Given the description of an element on the screen output the (x, y) to click on. 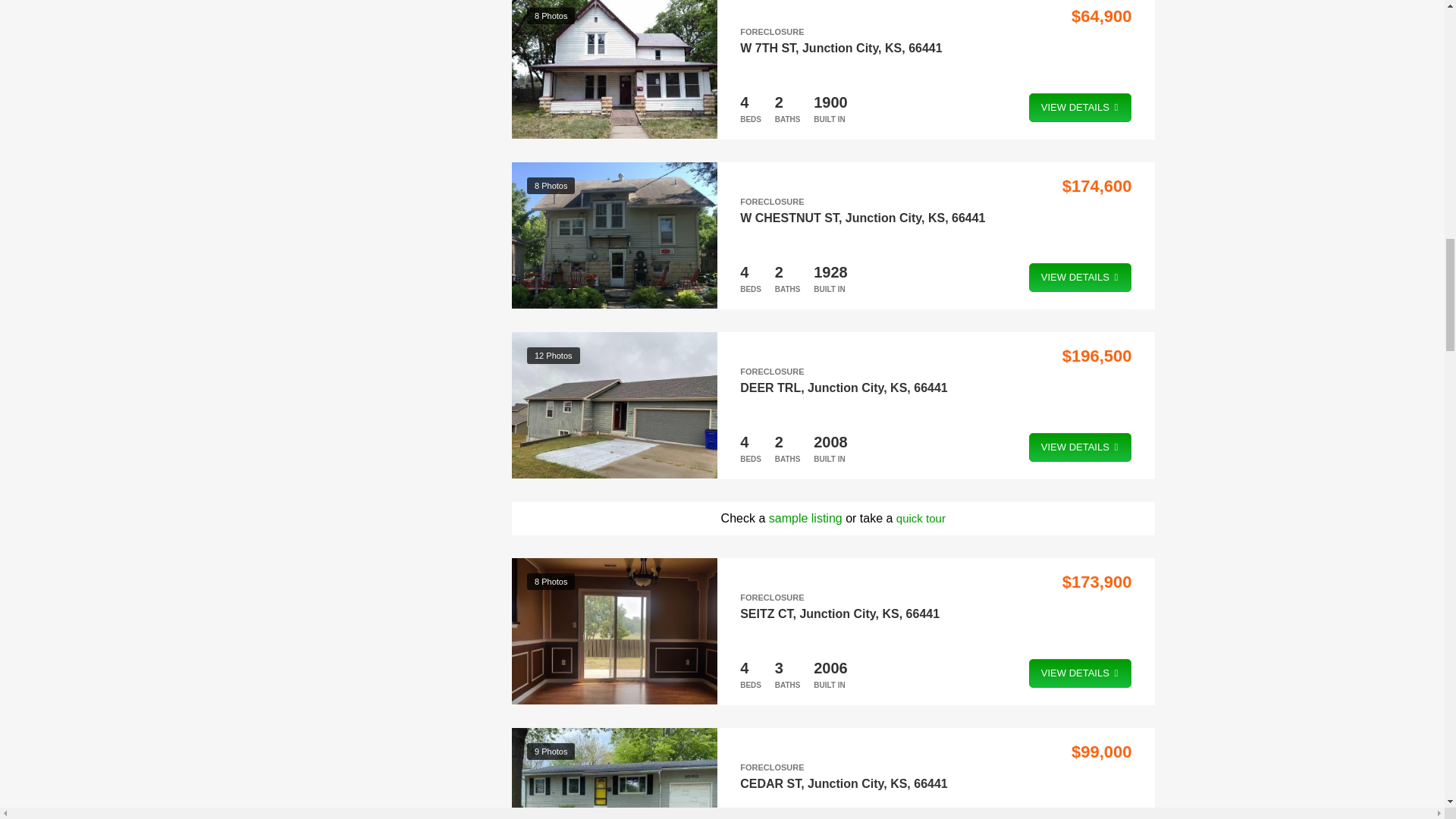
Sample Listing (805, 517)
